Given the description of an element on the screen output the (x, y) to click on. 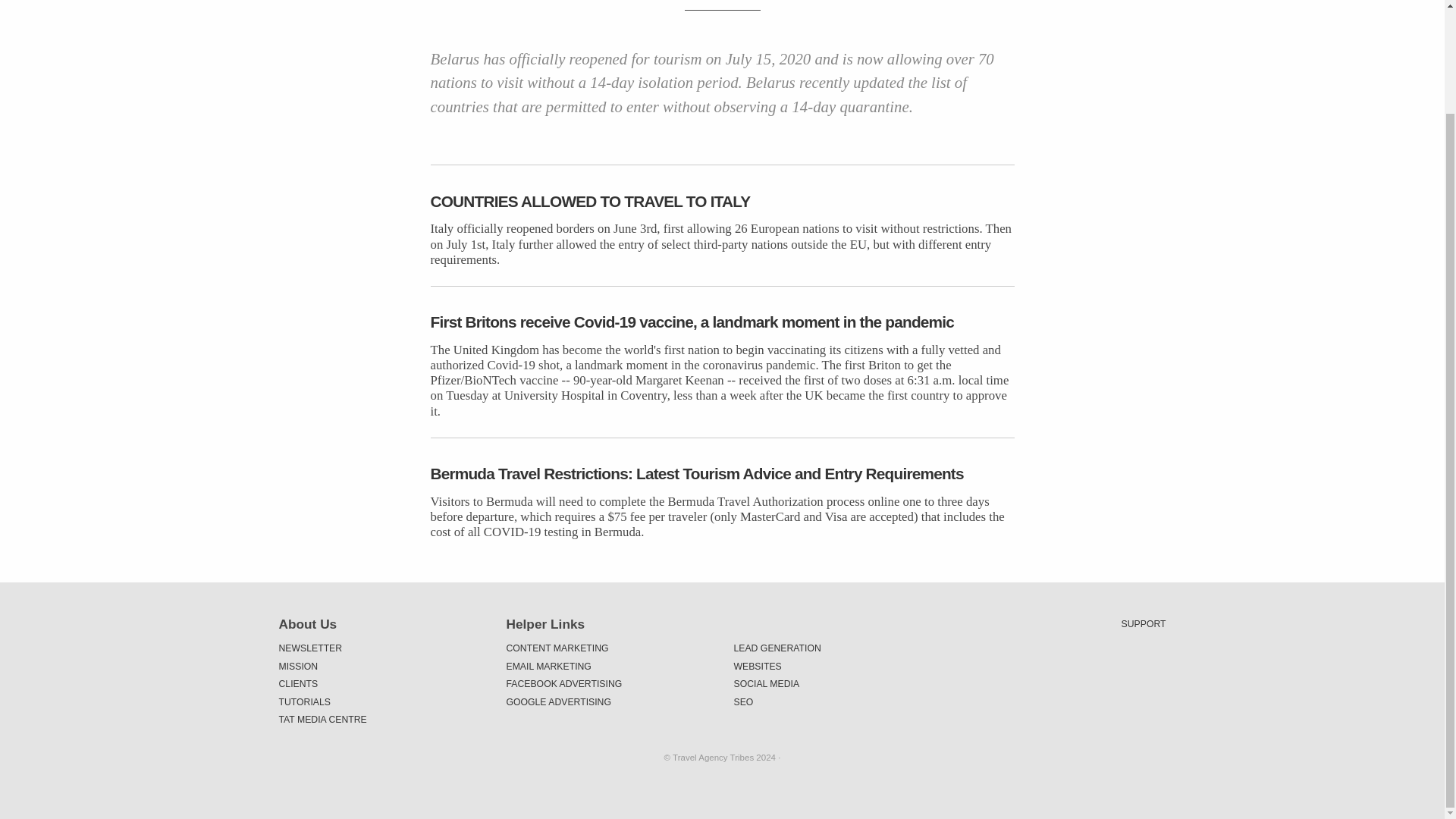
CONTENT MARKETING (608, 648)
EMAIL MARKETING (608, 665)
SOCIAL MEDIA (836, 683)
WEBSITES (836, 665)
FACEBOOK ADVERTISING (608, 683)
LEAD GENERATION (836, 648)
SEO (836, 701)
MISSION (381, 665)
COUNTRIES ALLOWED TO TRAVEL TO ITALY (722, 200)
